Given the description of an element on the screen output the (x, y) to click on. 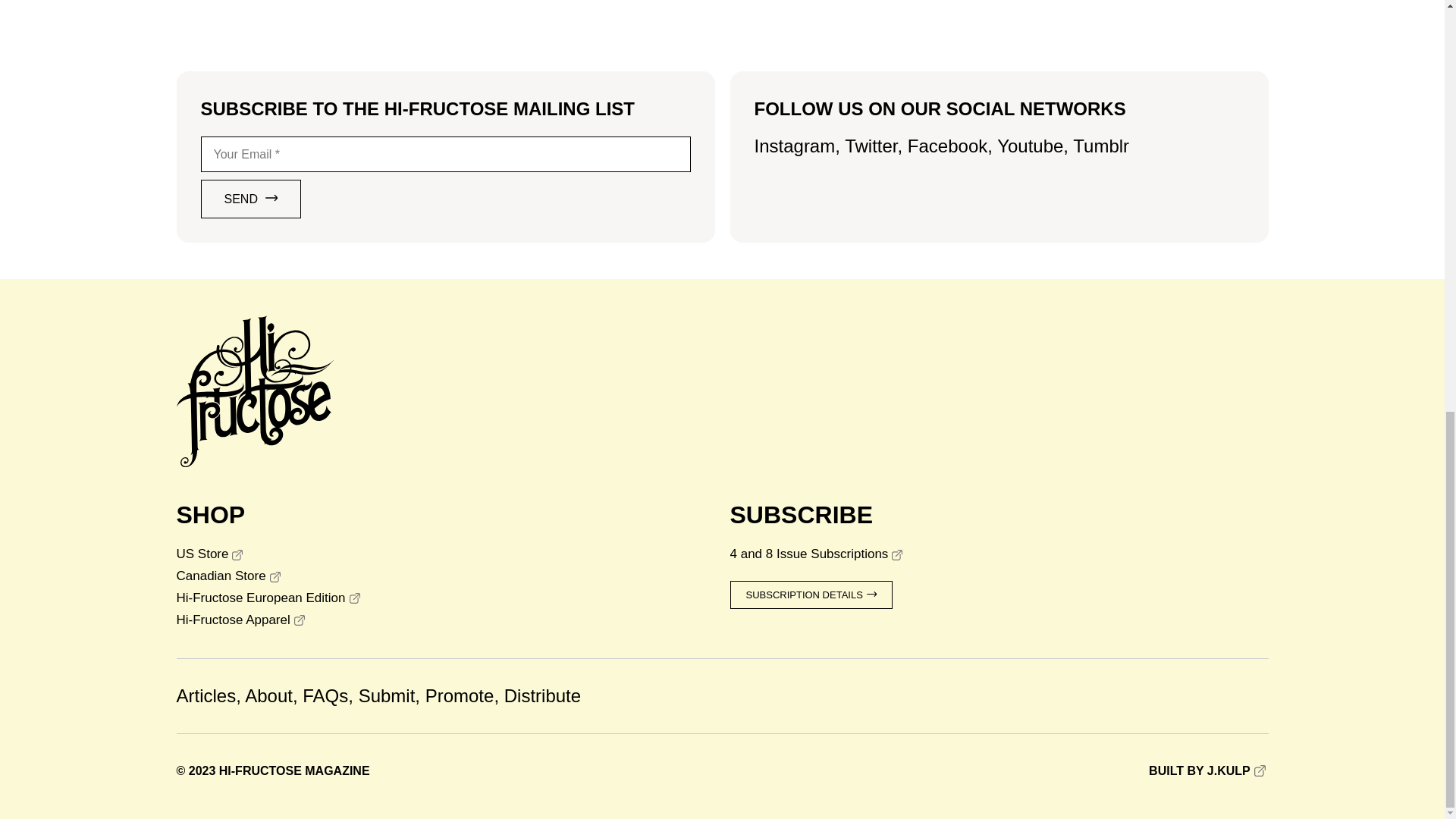
SUBSCRIPTION DETAILS (810, 594)
Promote (460, 694)
SUBSCRIBE (800, 514)
BUILT BY J.KULP (1208, 771)
Hi-Fructose European Edition (445, 598)
FAQs (324, 694)
Distribute (541, 694)
Twitter (870, 145)
Youtube (1029, 145)
Hi-Fructose Apparel (445, 620)
